Given the description of an element on the screen output the (x, y) to click on. 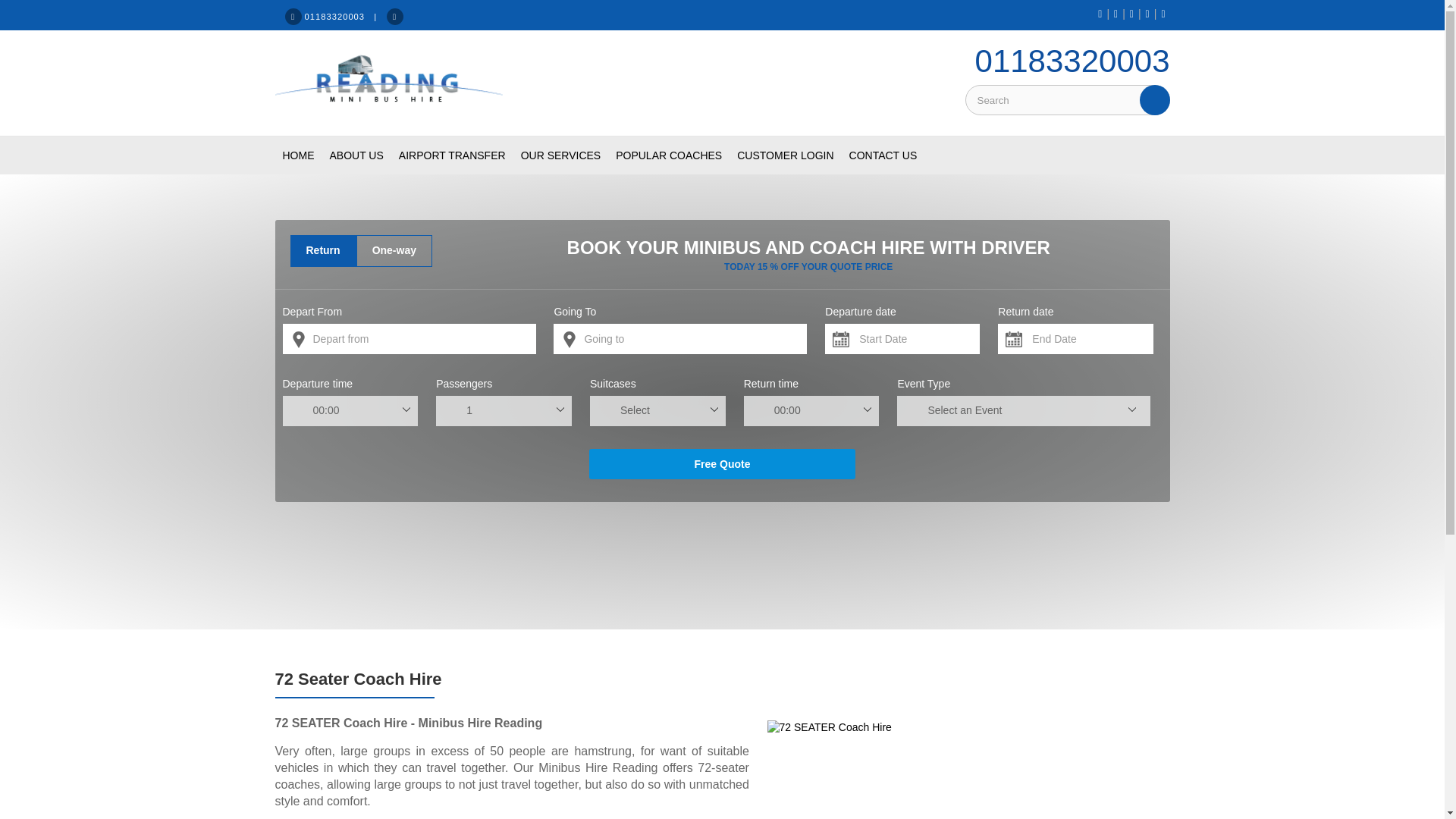
Free Quote (722, 463)
POPULAR COACHES (668, 155)
Free Quote (722, 463)
One-way (394, 250)
Start Date (902, 338)
Return time (811, 410)
AIRPORT TRANSFER (452, 155)
Minibus Hire Reading (388, 82)
Type (657, 410)
No. of People (503, 410)
